Given the description of an element on the screen output the (x, y) to click on. 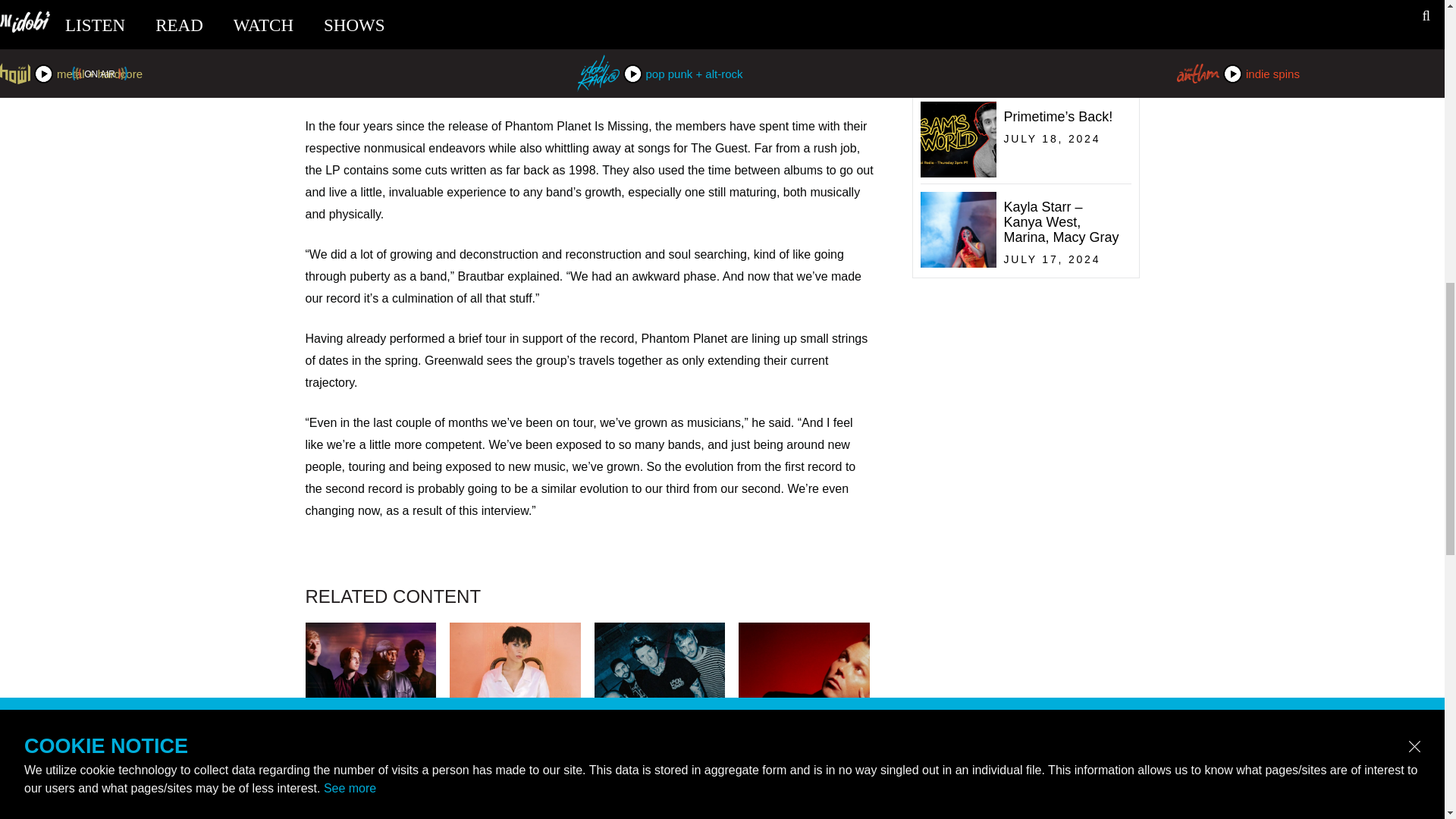
NEWS (369, 794)
FEATURES (514, 794)
Rain City Drive Announces Massive Headline Fall Tour (659, 811)
NEWS (659, 794)
NEWS (1022, 82)
